Given the description of an element on the screen output the (x, y) to click on. 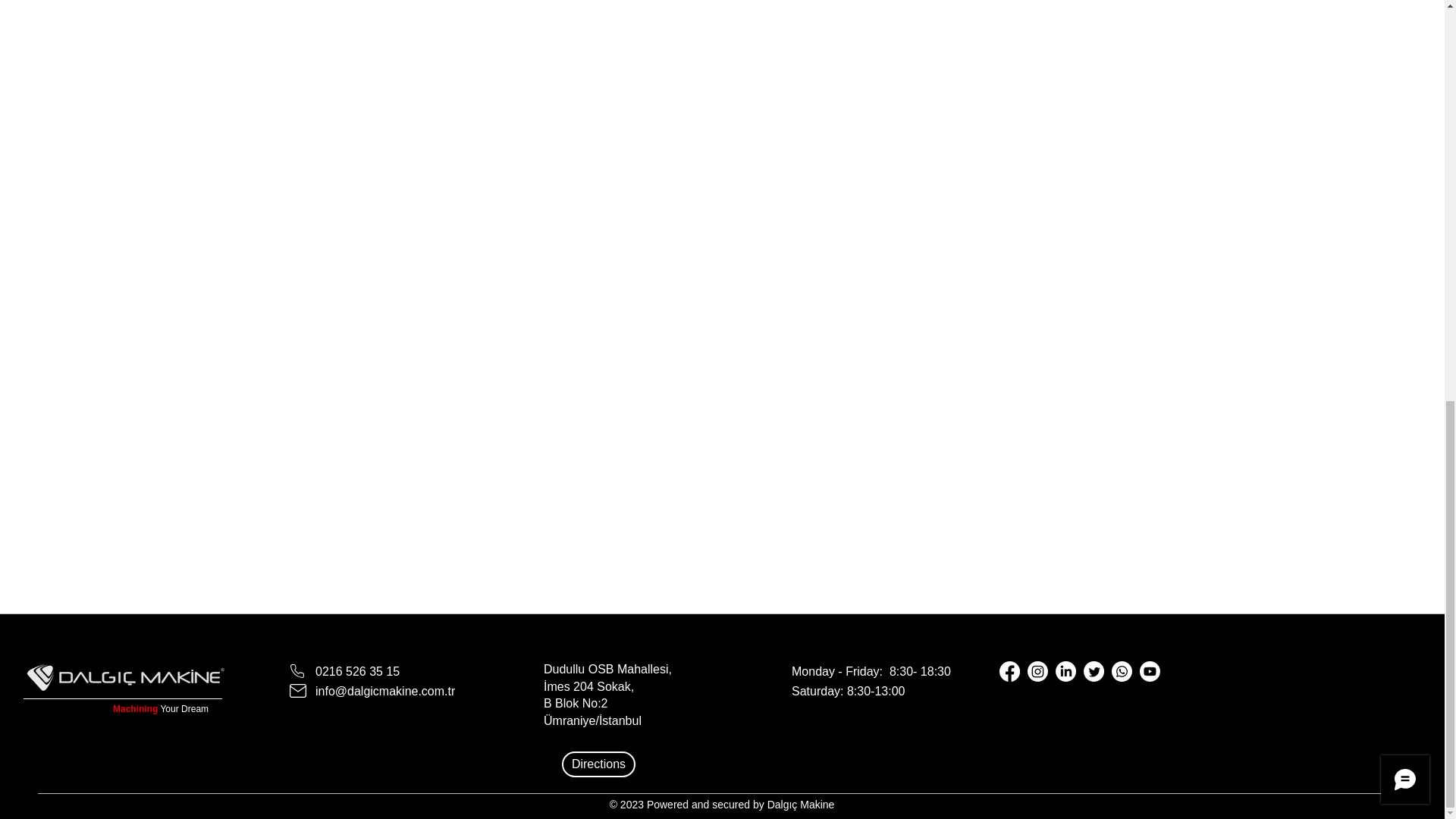
Directions (598, 764)
0216 526 35 15 (356, 671)
